Given the description of an element on the screen output the (x, y) to click on. 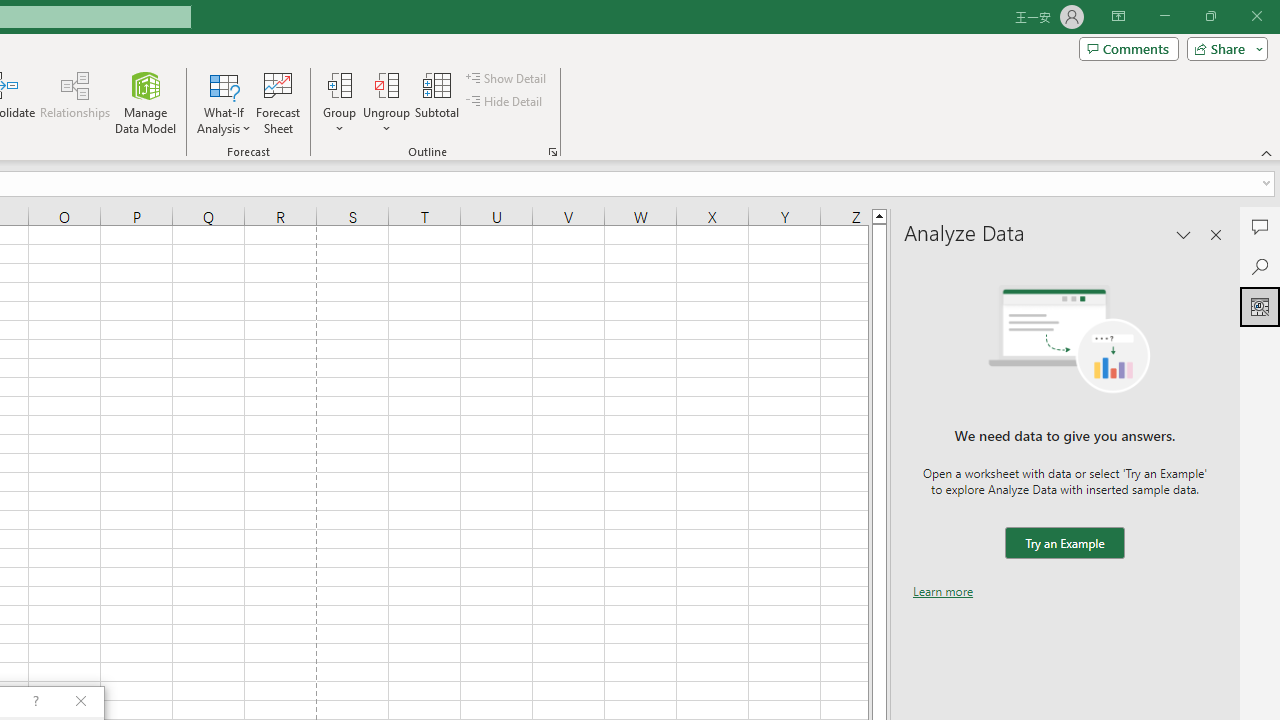
Ungroup... (386, 84)
We need data to give you answers. Try an Example (1064, 543)
Task Pane Options (1183, 234)
Group and Outline Settings (552, 151)
Group... (339, 84)
Group... (339, 102)
Search (1260, 266)
